Given the description of an element on the screen output the (x, y) to click on. 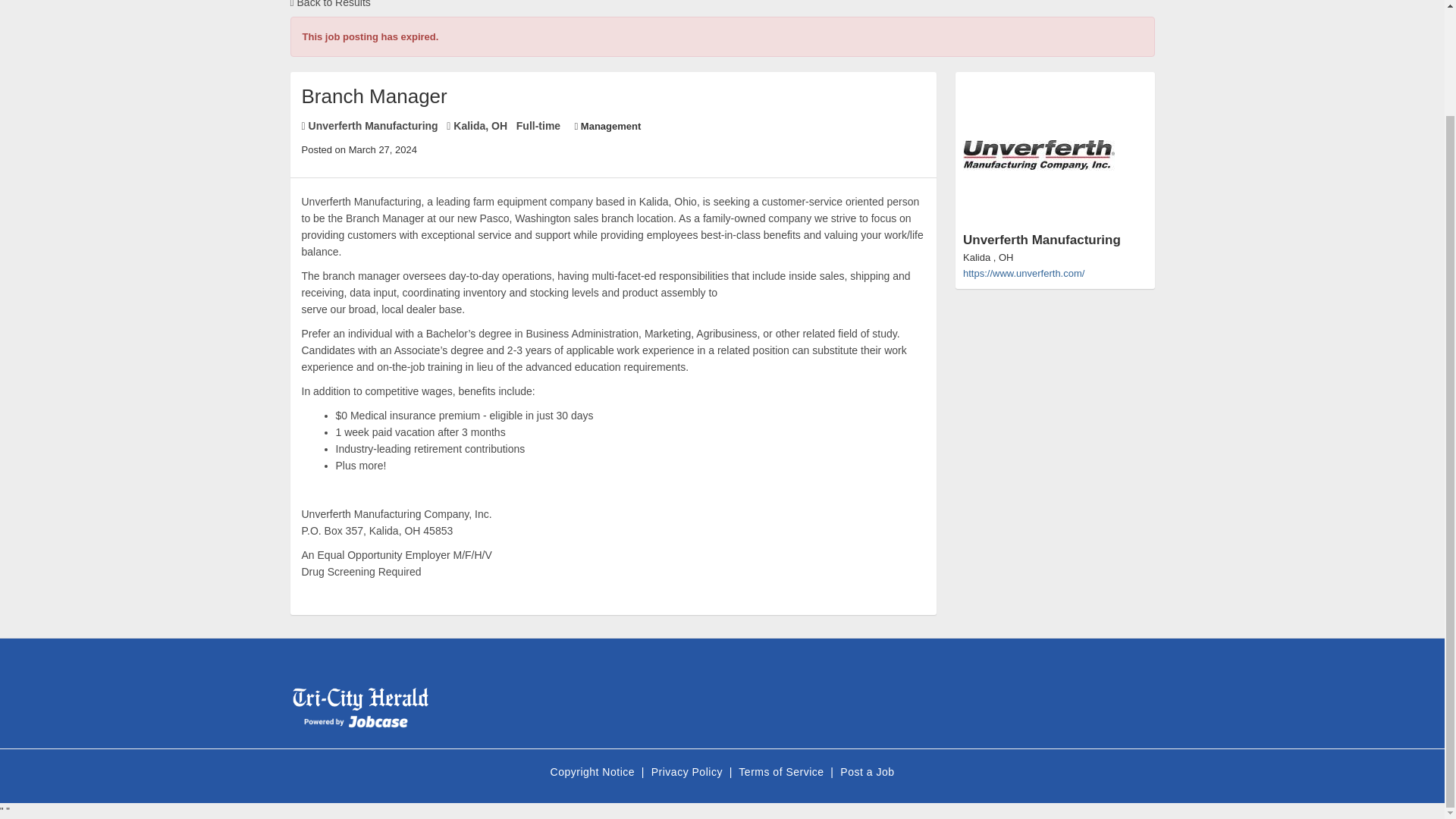
Back to Results (329, 4)
Copyright Notice (594, 771)
Terms of Service (782, 771)
Unverferth Manufacturing (1054, 170)
Post a Job (866, 771)
Privacy Policy (688, 771)
